Given the description of an element on the screen output the (x, y) to click on. 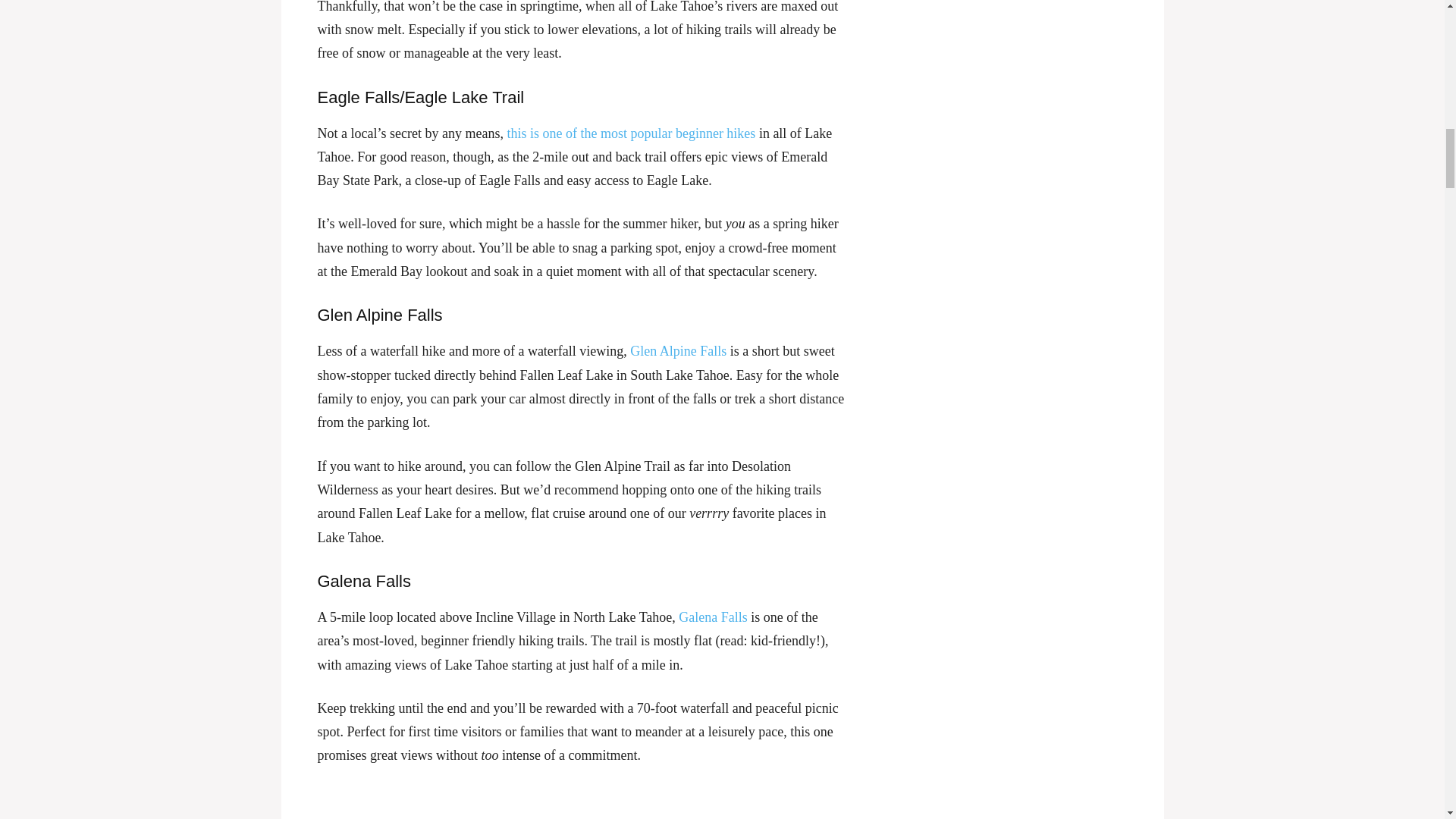
Galena Falls (712, 616)
Glen Alpine Falls (678, 350)
this is one of the most popular beginner hikes (630, 133)
